Given the description of an element on the screen output the (x, y) to click on. 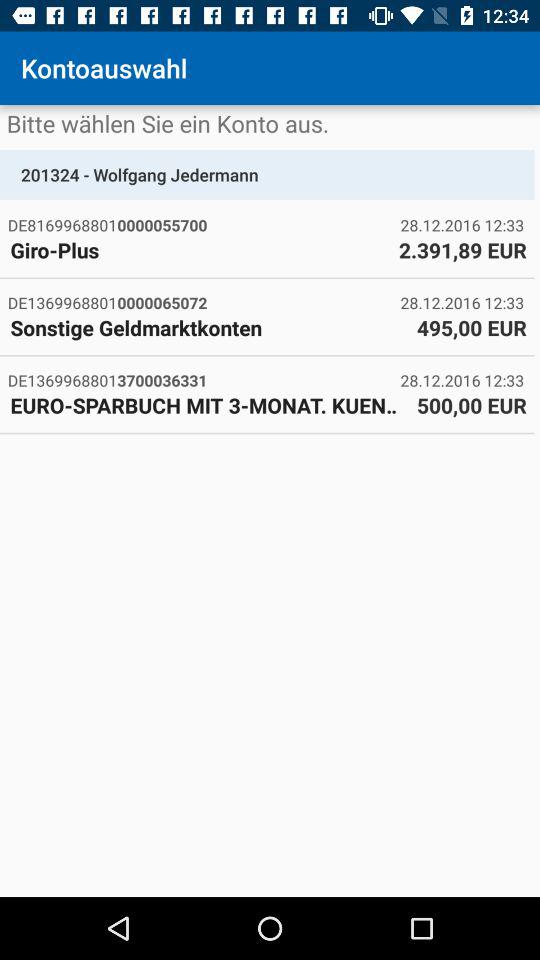
choose the icon to the left of the 2 391 89 item (199, 249)
